Given the description of an element on the screen output the (x, y) to click on. 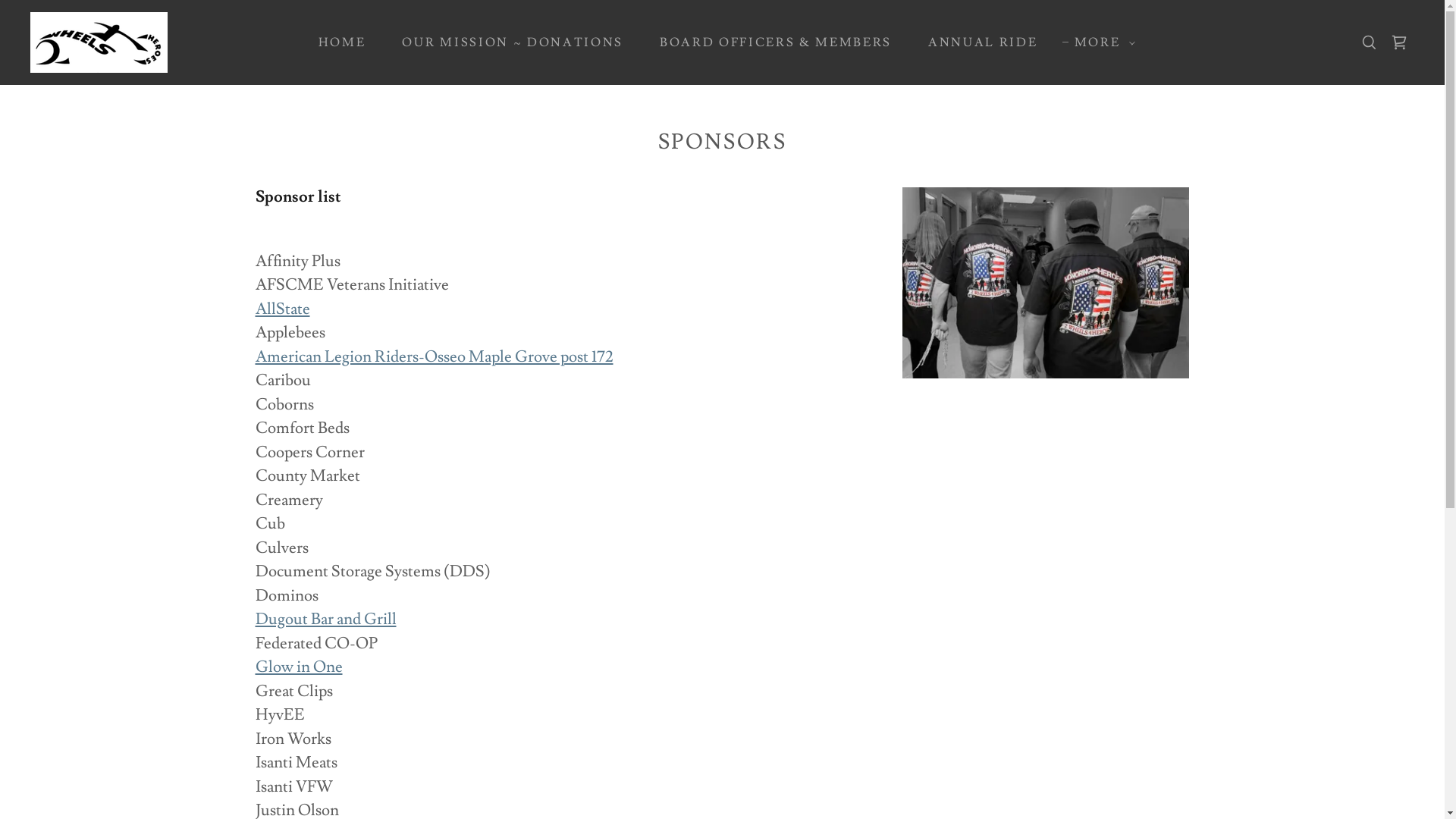
Dugout Bar and Grill Element type: text (324, 618)
ANNUAL RIDE Element type: text (976, 42)
AllState Element type: text (281, 308)
American Legion Riders-Osseo Maple Grove post 172 Element type: text (433, 356)
OUR MISSION ~ DONATIONS Element type: text (506, 42)
BOARD OFFICERS & MEMBERS Element type: text (769, 42)
2 Wheels 4 Heroes Element type: hover (98, 38)
Glow in One Element type: text (298, 666)
HOME Element type: text (335, 42)
MORE Element type: text (1099, 42)
